Given the description of an element on the screen output the (x, y) to click on. 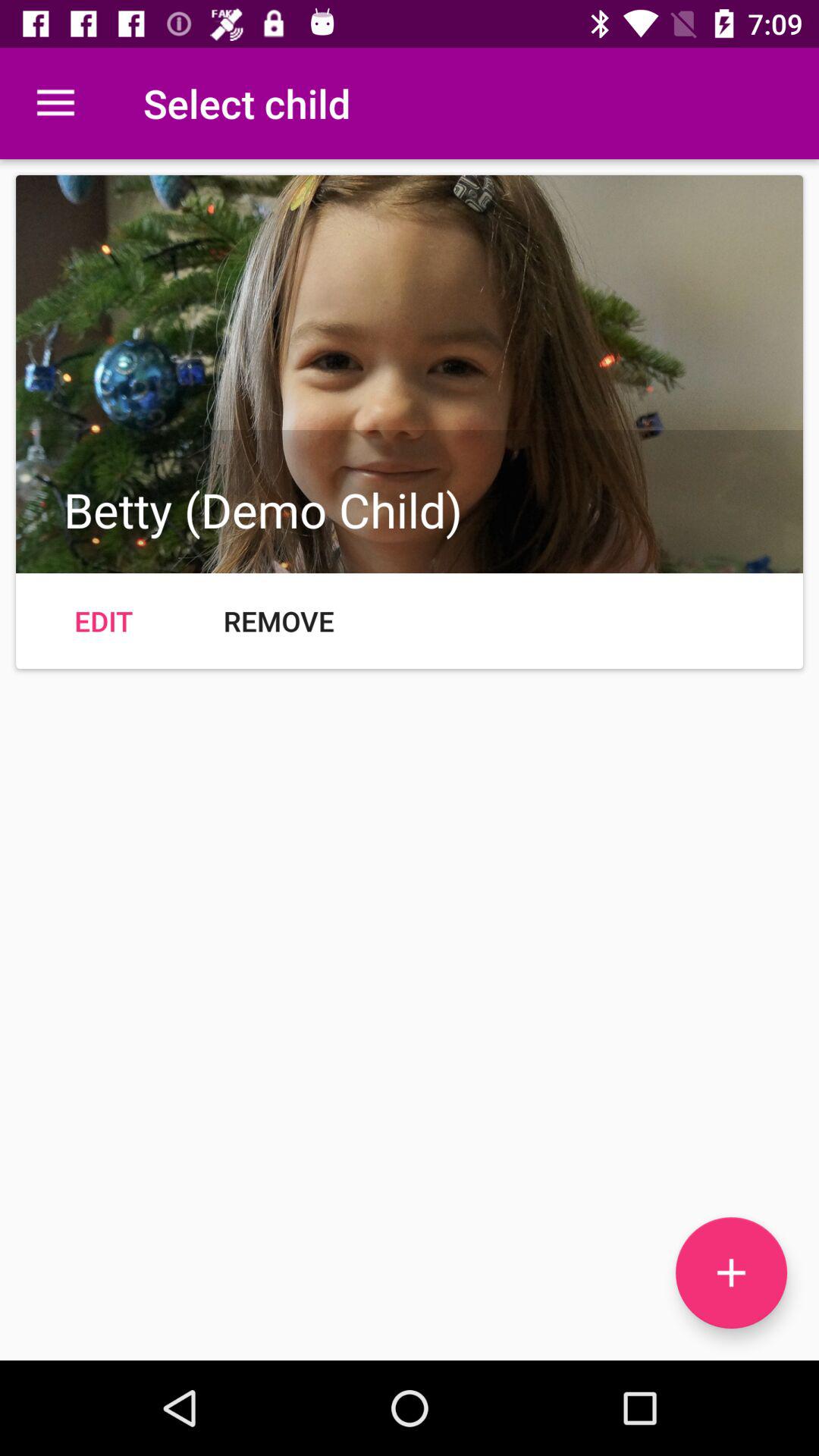
flip to edit (103, 620)
